Given the description of an element on the screen output the (x, y) to click on. 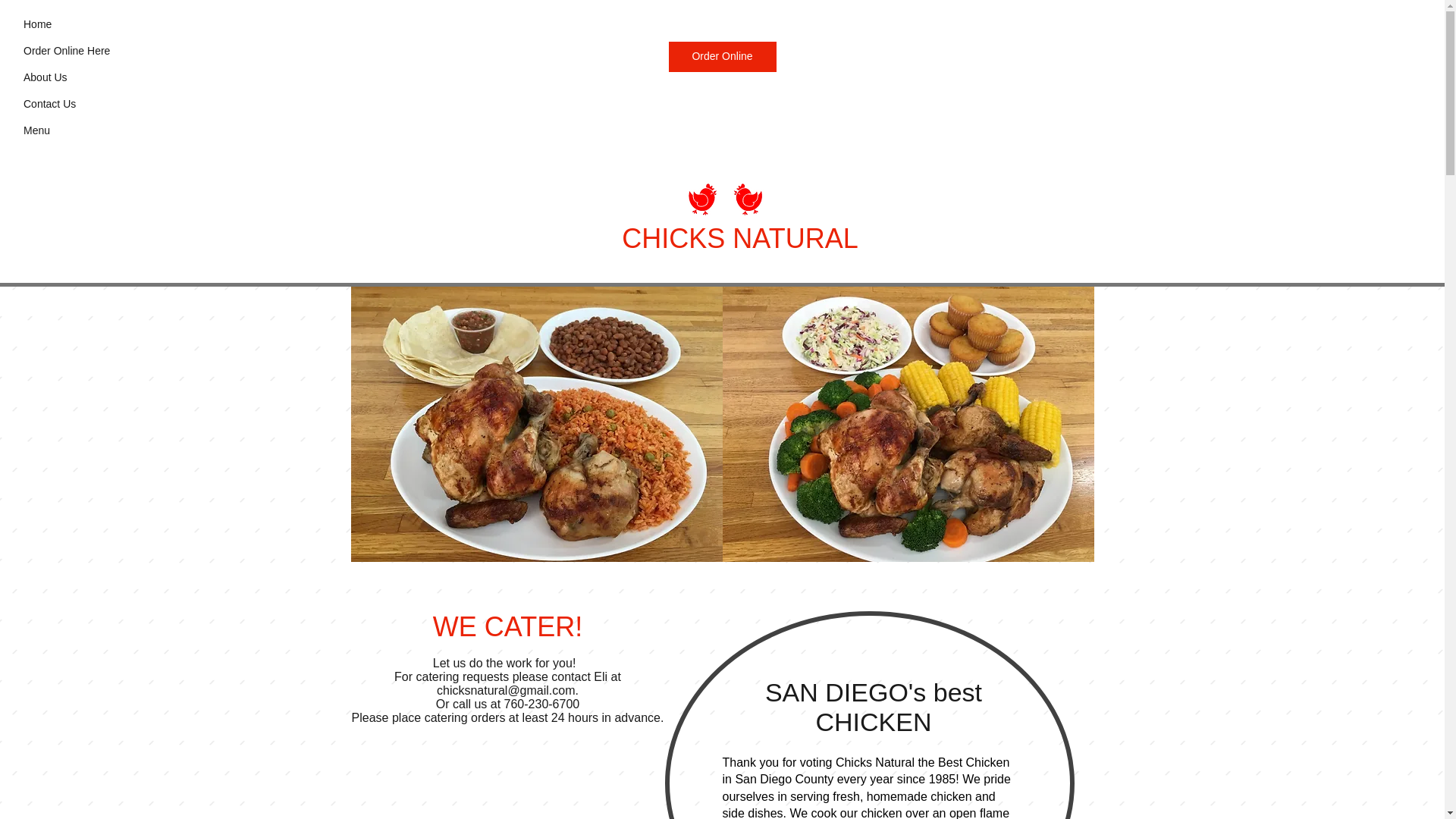
About Us (44, 76)
Order Online Here (65, 50)
Contact Us (49, 104)
Order Online (722, 56)
Menu (36, 130)
Home (36, 24)
CHICKS NATURAL (739, 237)
